Given the description of an element on the screen output the (x, y) to click on. 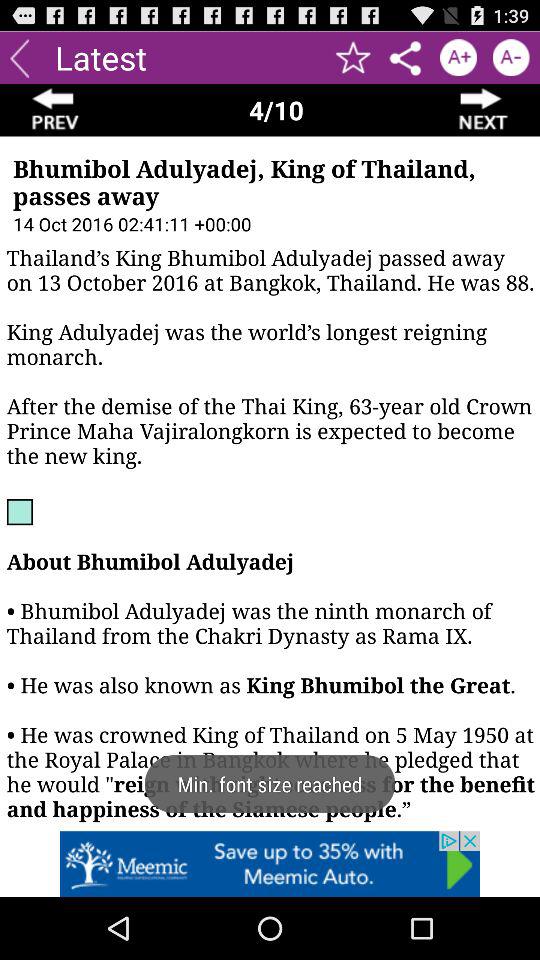
icon (458, 57)
